Given the description of an element on the screen output the (x, y) to click on. 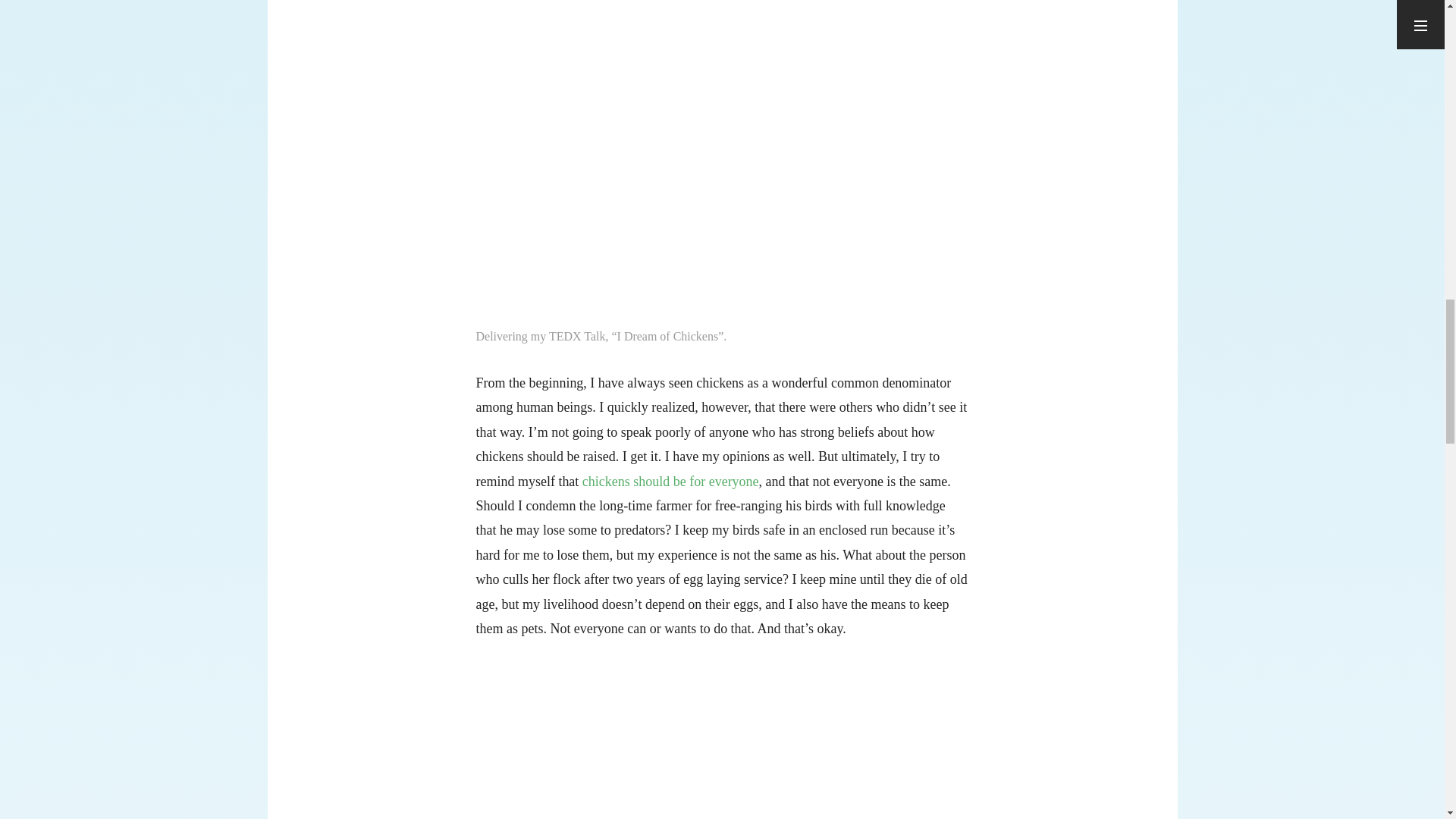
chickens should be for everyone (670, 481)
